Given the description of an element on the screen output the (x, y) to click on. 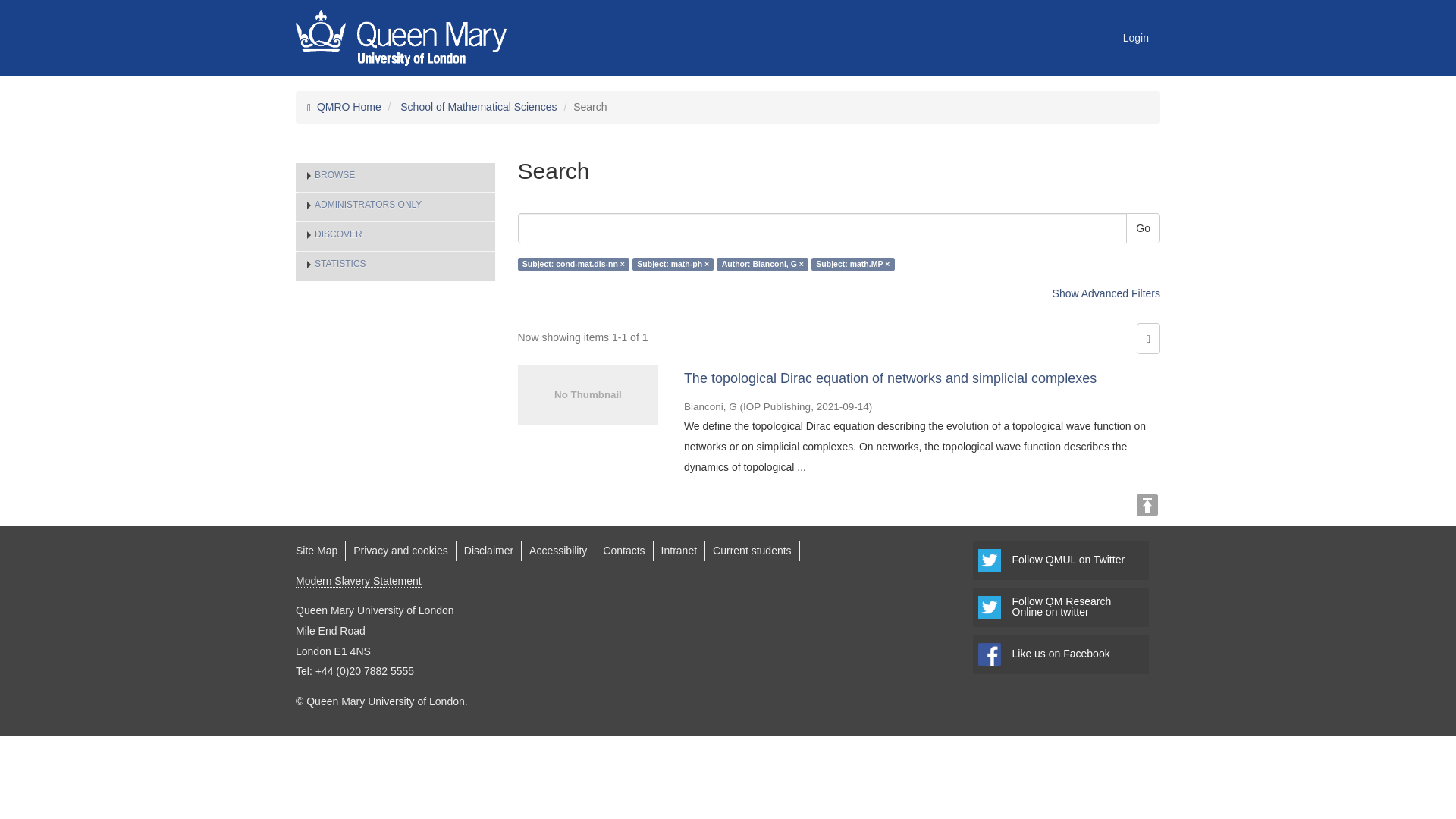
Detailed site map (316, 550)
QMRO Home (349, 106)
Disclaimer (488, 550)
Show Advanced Filters (1106, 293)
Disability and accessibility statement (557, 550)
Privacy and data protection statement (400, 550)
Go (1142, 228)
Contact details for general enquiries (623, 550)
School of Mathematical Sciences (478, 106)
